Given the description of an element on the screen output the (x, y) to click on. 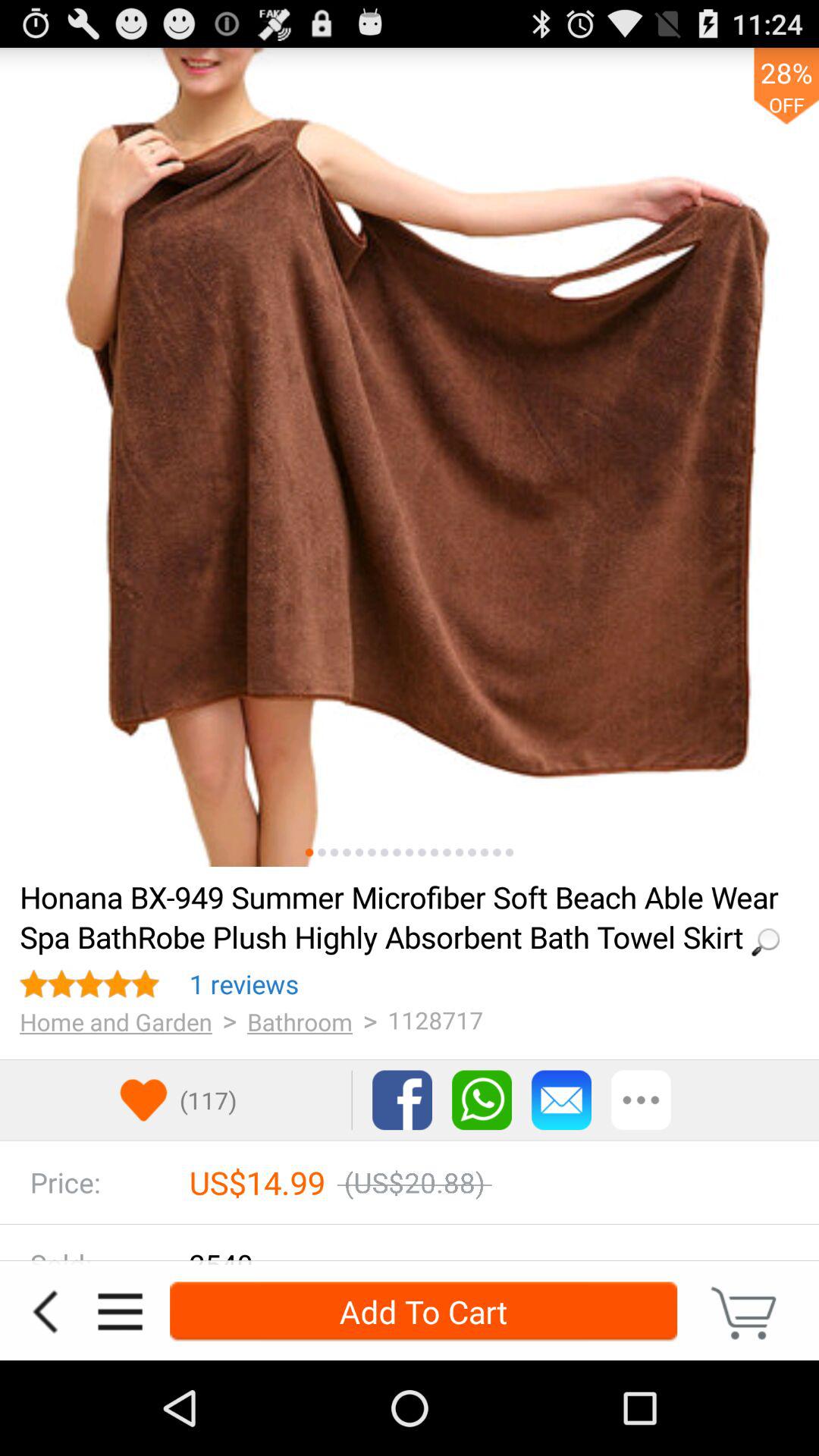
select the facebook option (402, 1100)
